Given the description of an element on the screen output the (x, y) to click on. 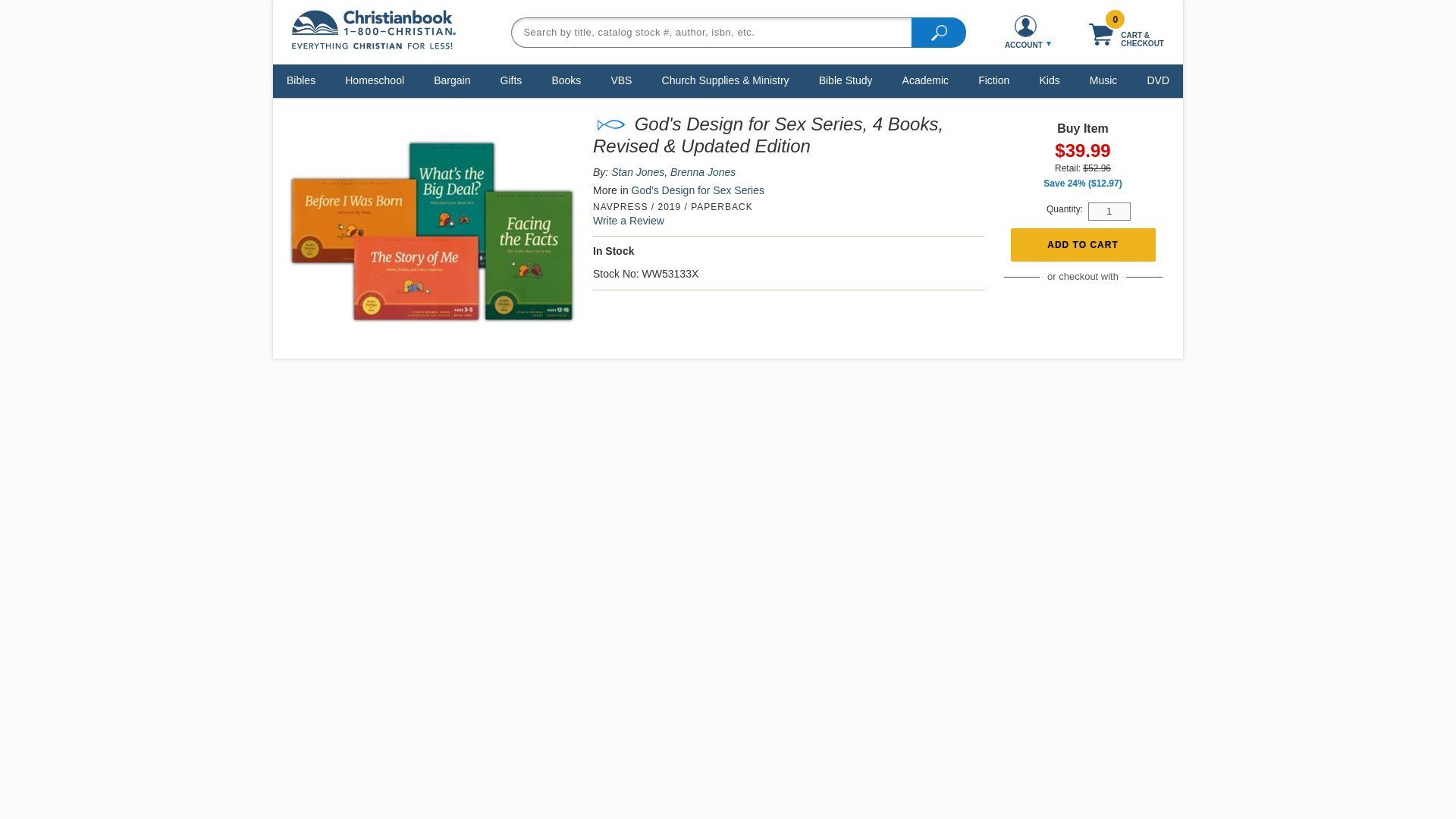
Write a Review (627, 220)
Brenna Jones (702, 172)
DVD (1157, 79)
Fiction (993, 79)
1 (1109, 211)
Academic (924, 79)
ACCOUNT (1025, 32)
Bargain (452, 79)
VBS (621, 79)
Music (1103, 79)
Gifts (511, 79)
Bibles (300, 79)
Kids (1048, 79)
Bible Study (845, 79)
Homeschool (374, 79)
